Given the description of an element on the screen output the (x, y) to click on. 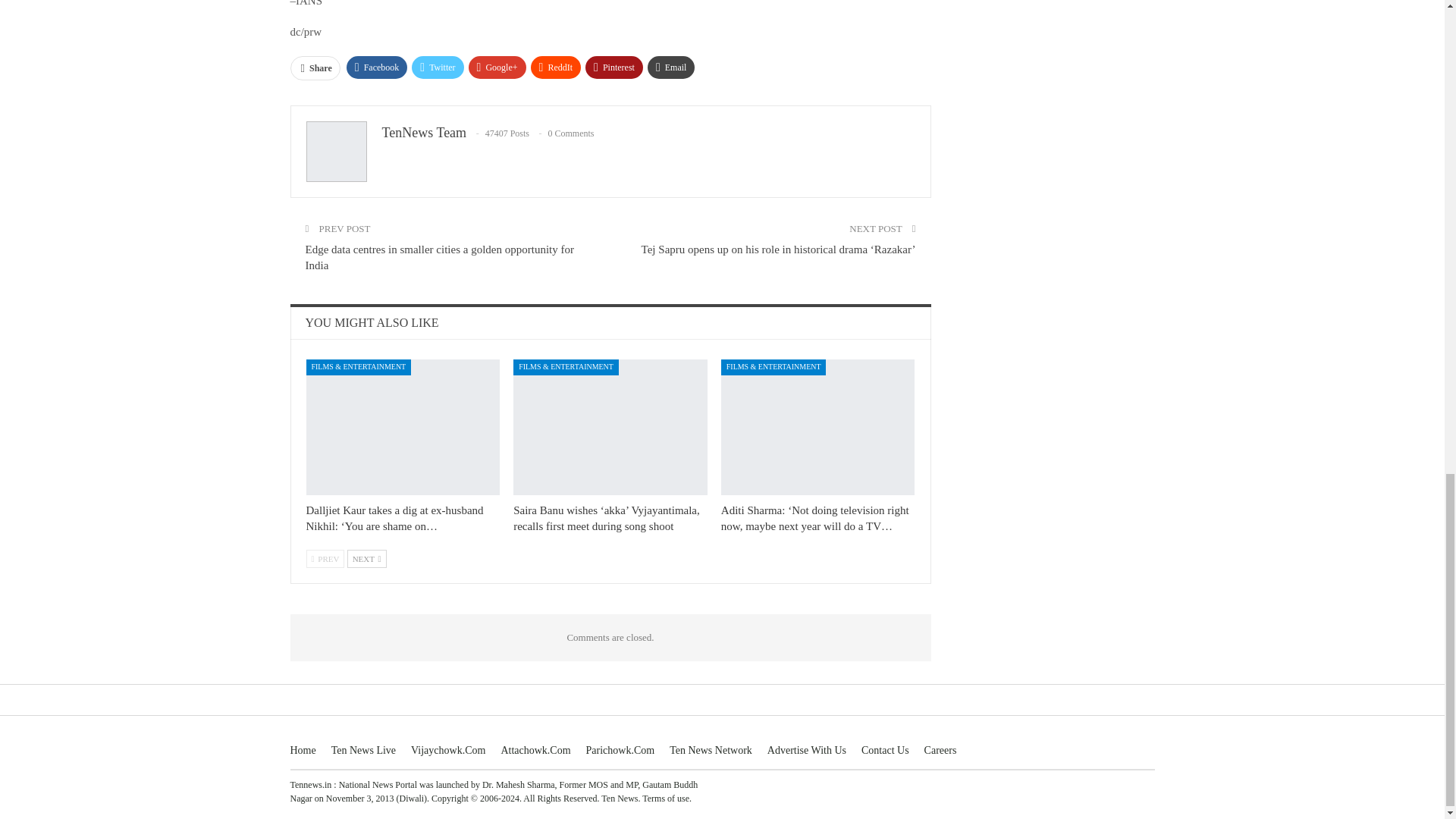
Next (367, 558)
Facebook (376, 67)
ReddIt (555, 67)
Twitter (437, 67)
Previous (325, 558)
